Given the description of an element on the screen output the (x, y) to click on. 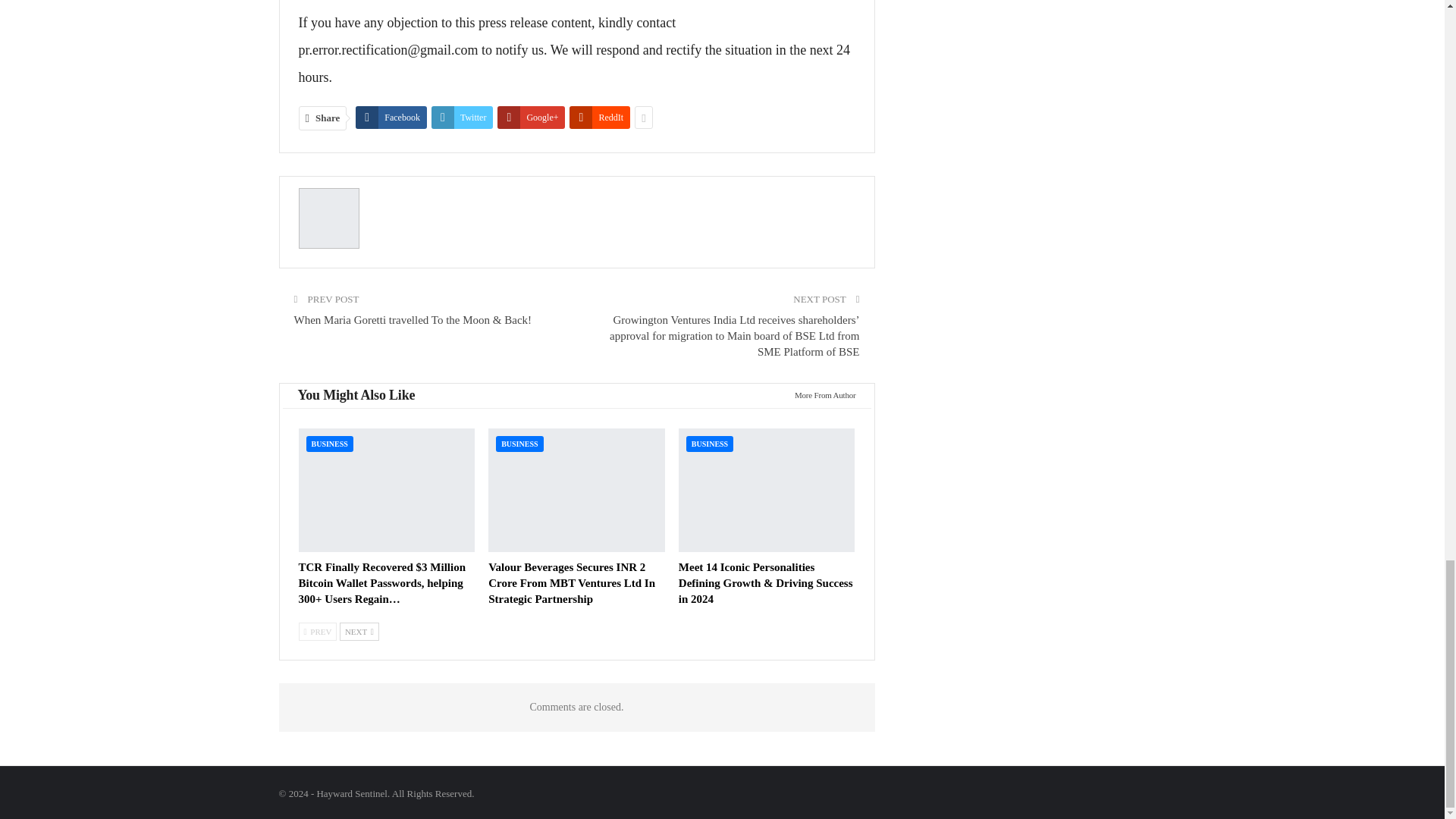
Previous (317, 631)
More From Author (821, 394)
Next (358, 631)
Facebook (390, 117)
ReddIt (599, 117)
Twitter (461, 117)
You Might Also Like (355, 395)
